Given the description of an element on the screen output the (x, y) to click on. 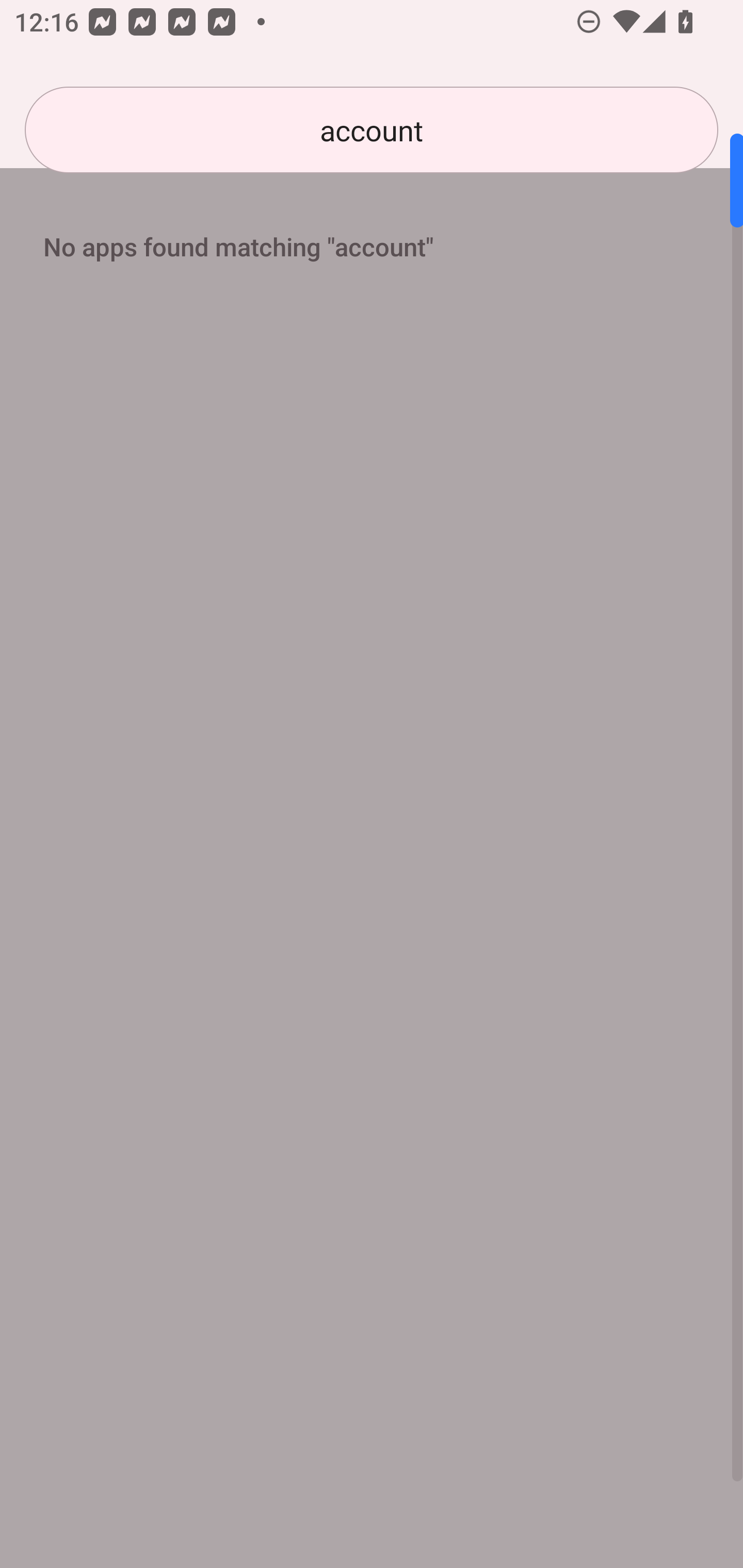
account (371, 130)
